Given the description of an element on the screen output the (x, y) to click on. 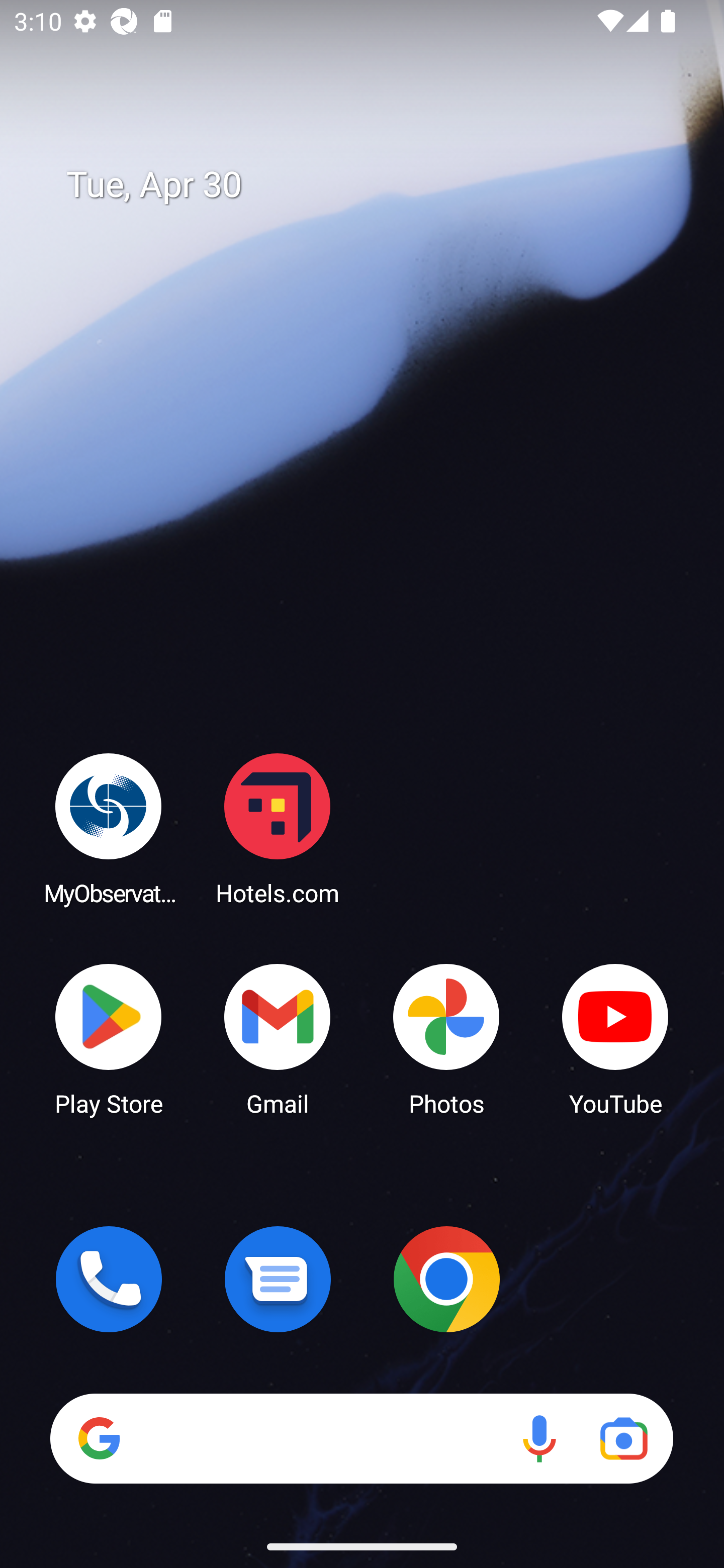
Tue, Apr 30 (375, 184)
MyObservatory (108, 828)
Hotels.com (277, 828)
Play Store (108, 1038)
Gmail (277, 1038)
Photos (445, 1038)
YouTube (615, 1038)
Phone (108, 1279)
Messages (277, 1279)
Chrome (446, 1279)
Voice search (539, 1438)
Google Lens (623, 1438)
